Given the description of an element on the screen output the (x, y) to click on. 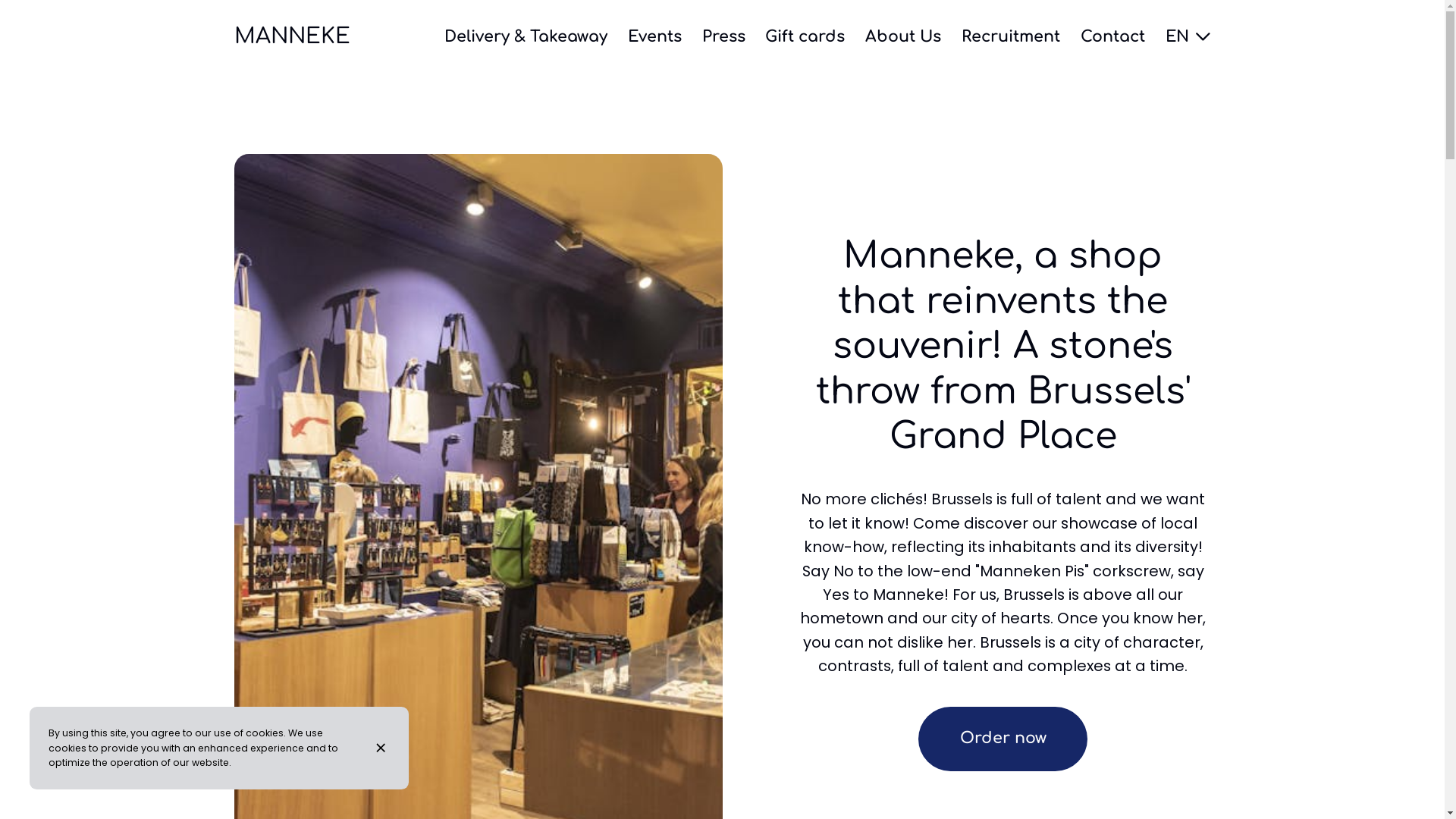
Recruitment Element type: text (1010, 36)
Gift cards Element type: text (804, 36)
Close the cookie information banner Element type: hover (382, 747)
EN Element type: text (1188, 36)
Contact Element type: text (1112, 36)
Events Element type: text (654, 36)
Delivery & Takeaway Element type: text (525, 36)
MANNEKE
MANNEKE Element type: text (291, 36)
About Us Element type: text (902, 36)
Order now Element type: text (1003, 738)
Press Element type: text (722, 36)
